Given the description of an element on the screen output the (x, y) to click on. 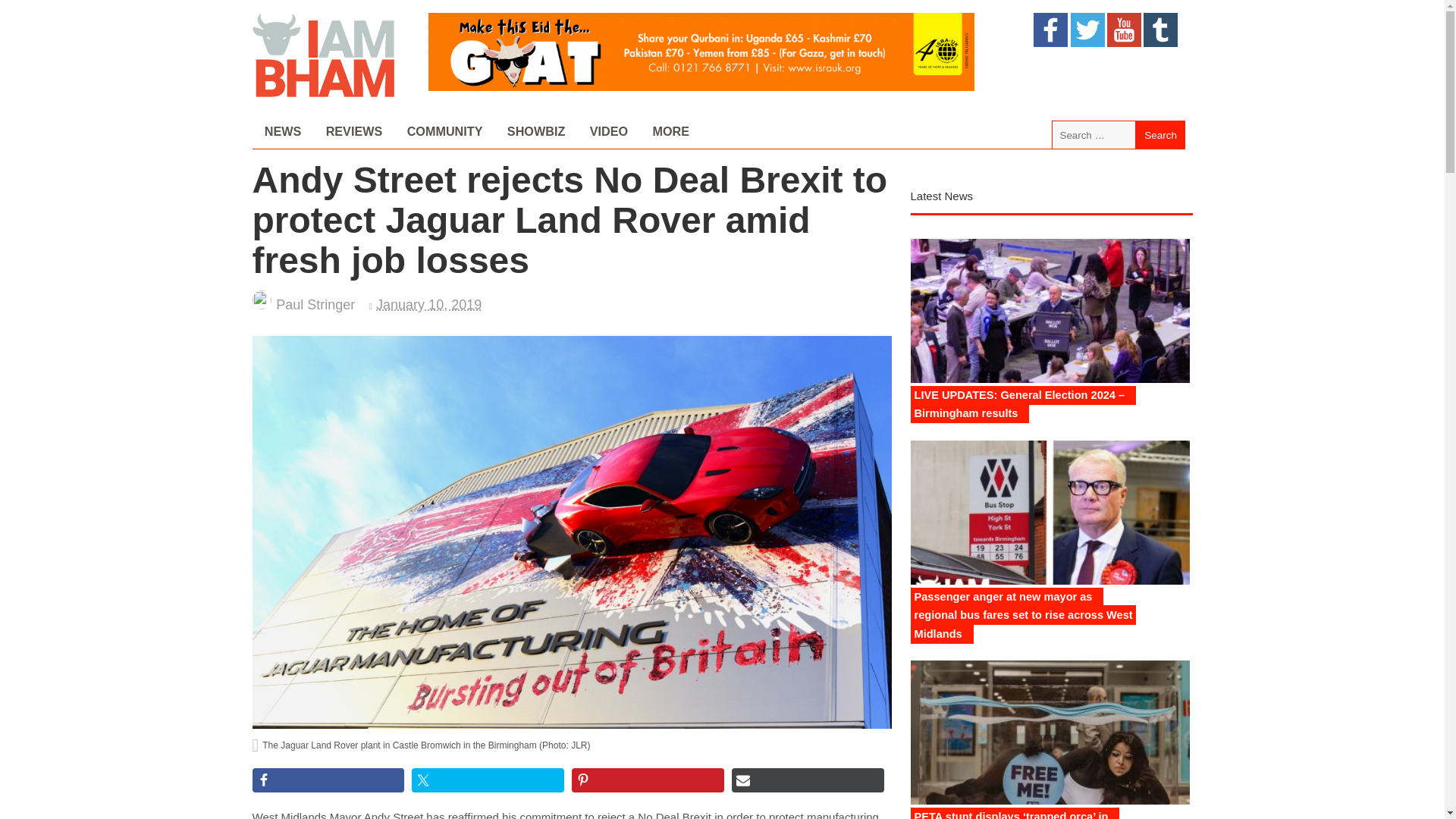
Share on Pinterest (647, 780)
Search (1160, 134)
REVIEWS (353, 132)
VIDEO (608, 132)
Posts by Paul Stringer (315, 304)
Share on Twitter (488, 780)
Search (1160, 134)
NEWS (282, 132)
Share via Email (807, 780)
MORE (670, 132)
